Given the description of an element on the screen output the (x, y) to click on. 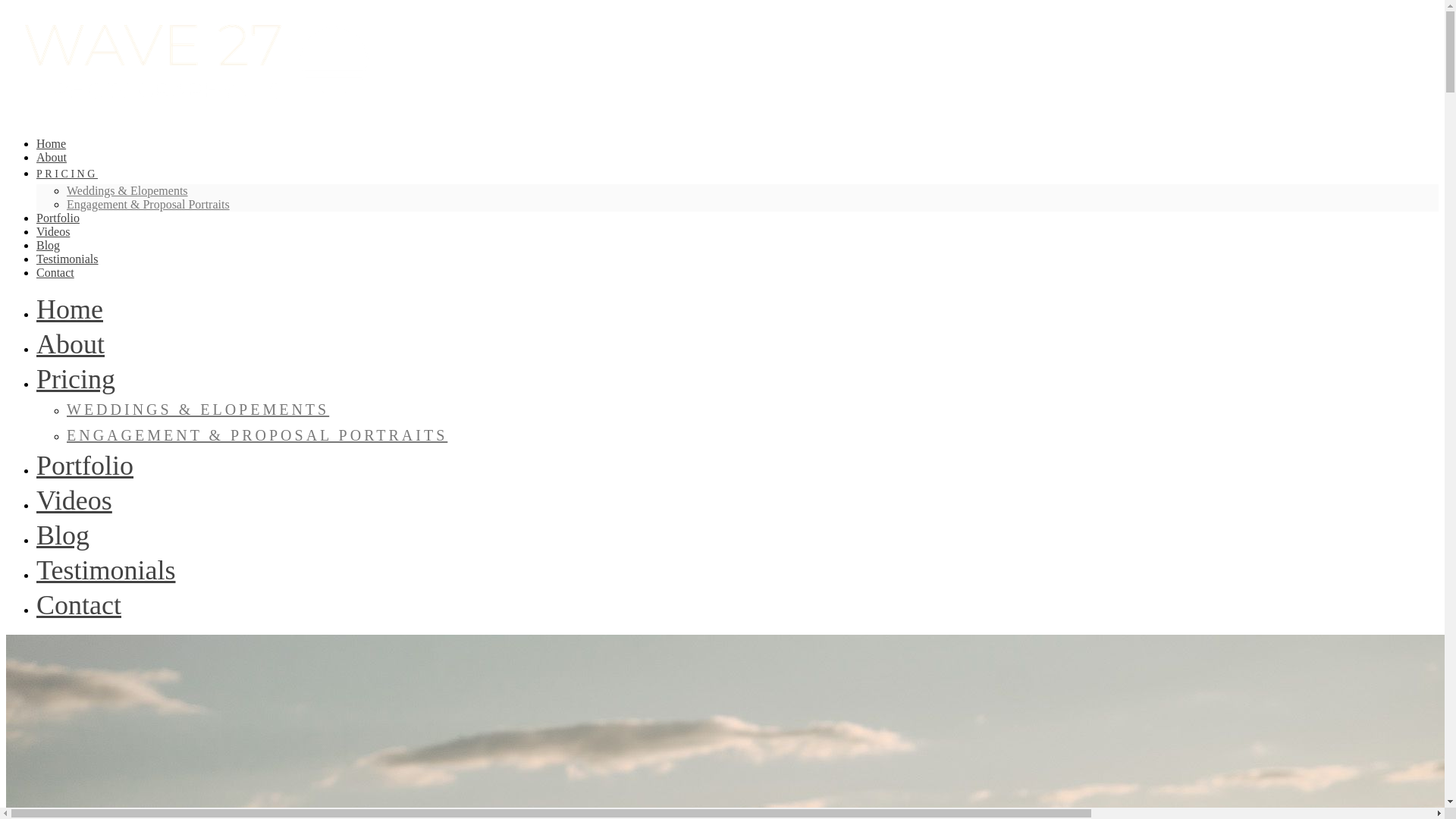
About (70, 344)
Contact (78, 604)
Testimonials (105, 570)
Portfolio (58, 217)
Home (50, 143)
Portfolio (84, 465)
Testimonials (67, 258)
Videos (74, 500)
PRICING (66, 173)
Blog (47, 245)
Videos (52, 231)
Home (69, 309)
About (51, 156)
Pricing (75, 378)
Contact (55, 272)
